Given the description of an element on the screen output the (x, y) to click on. 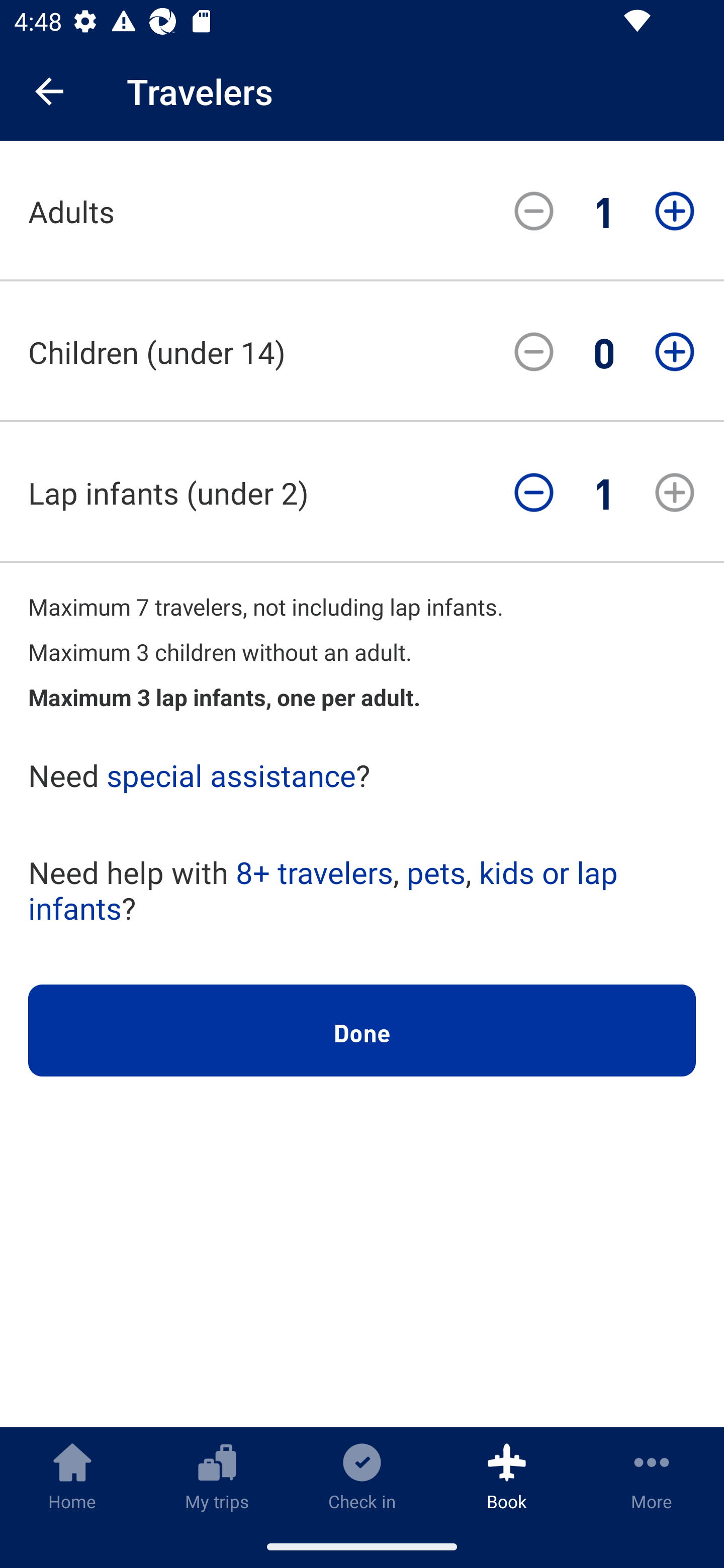
Navigate up (49, 91)
Decrease adults (533, 210)
Increase adults (674, 210)
Decrease children (533, 351)
Increase children (674, 351)
Decrease infants (533, 492)
Increase infants (674, 492)
Depart and return (361, 687)
Done (361, 1030)
Home (72, 1475)
My trips (216, 1475)
Check in (361, 1475)
More (651, 1475)
